Given the description of an element on the screen output the (x, y) to click on. 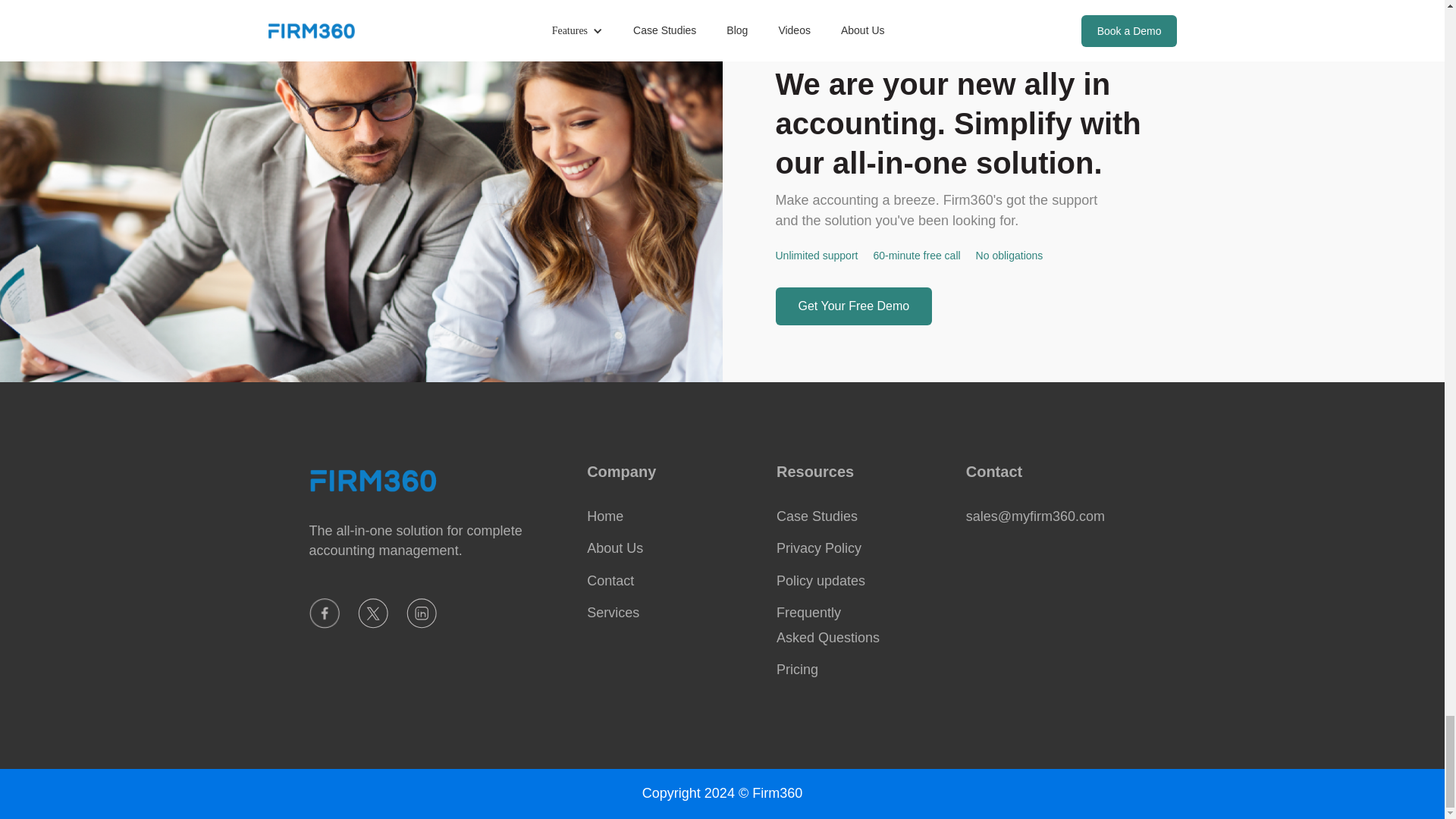
Case Studies (861, 516)
Home (671, 516)
Privacy Policy (861, 548)
Pricing (861, 669)
Services (671, 612)
About Us (671, 548)
Policy updates (861, 580)
Contact (671, 580)
Get Your Free Demo (852, 306)
Frequently Asked Questions (861, 625)
